Given the description of an element on the screen output the (x, y) to click on. 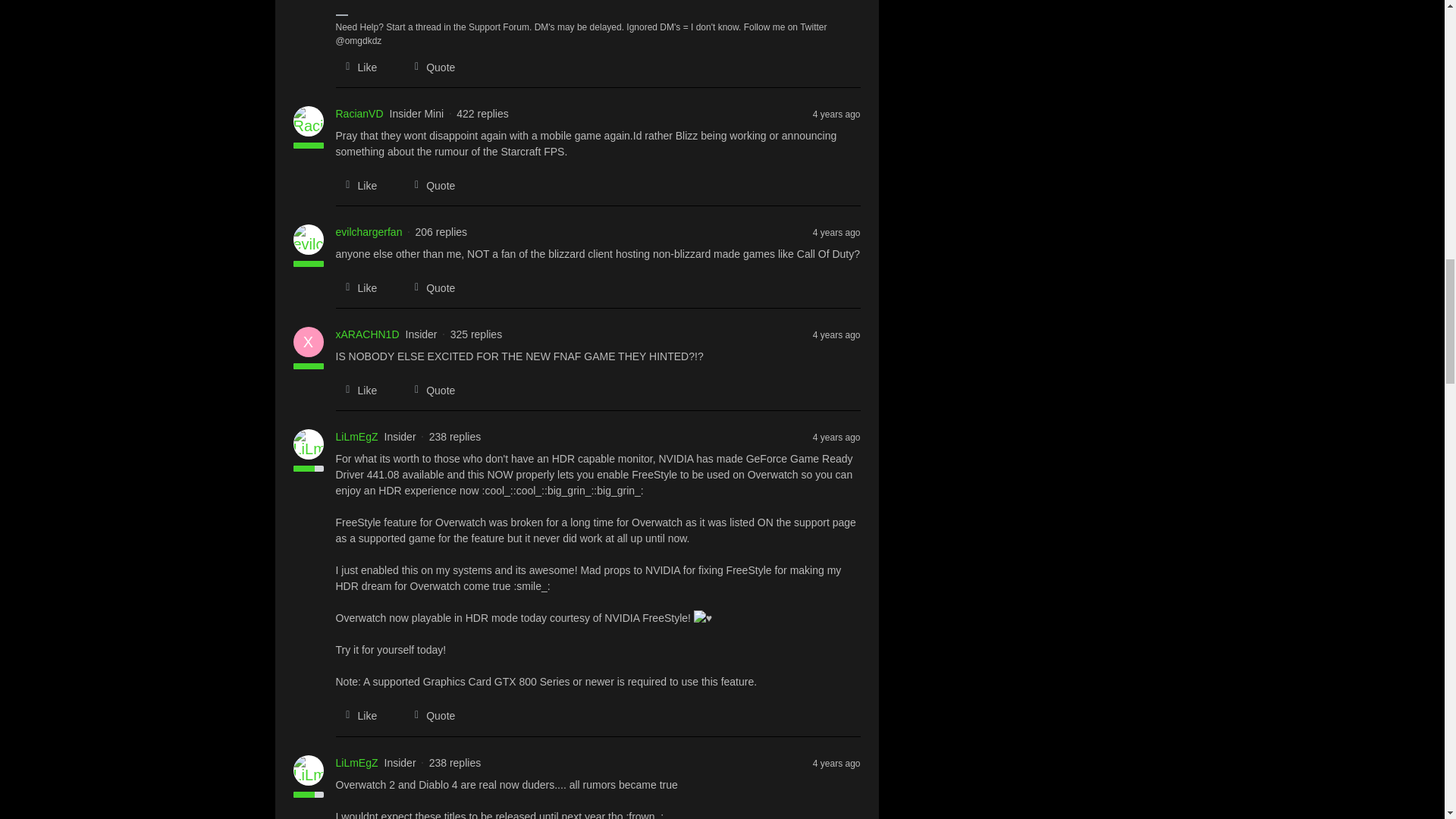
xARACHN1D (366, 334)
RacianVD (358, 114)
LiLmEgZ (355, 437)
evilchargerfan (367, 232)
LiLmEgZ (355, 763)
:hearts: (702, 618)
